Given the description of an element on the screen output the (x, y) to click on. 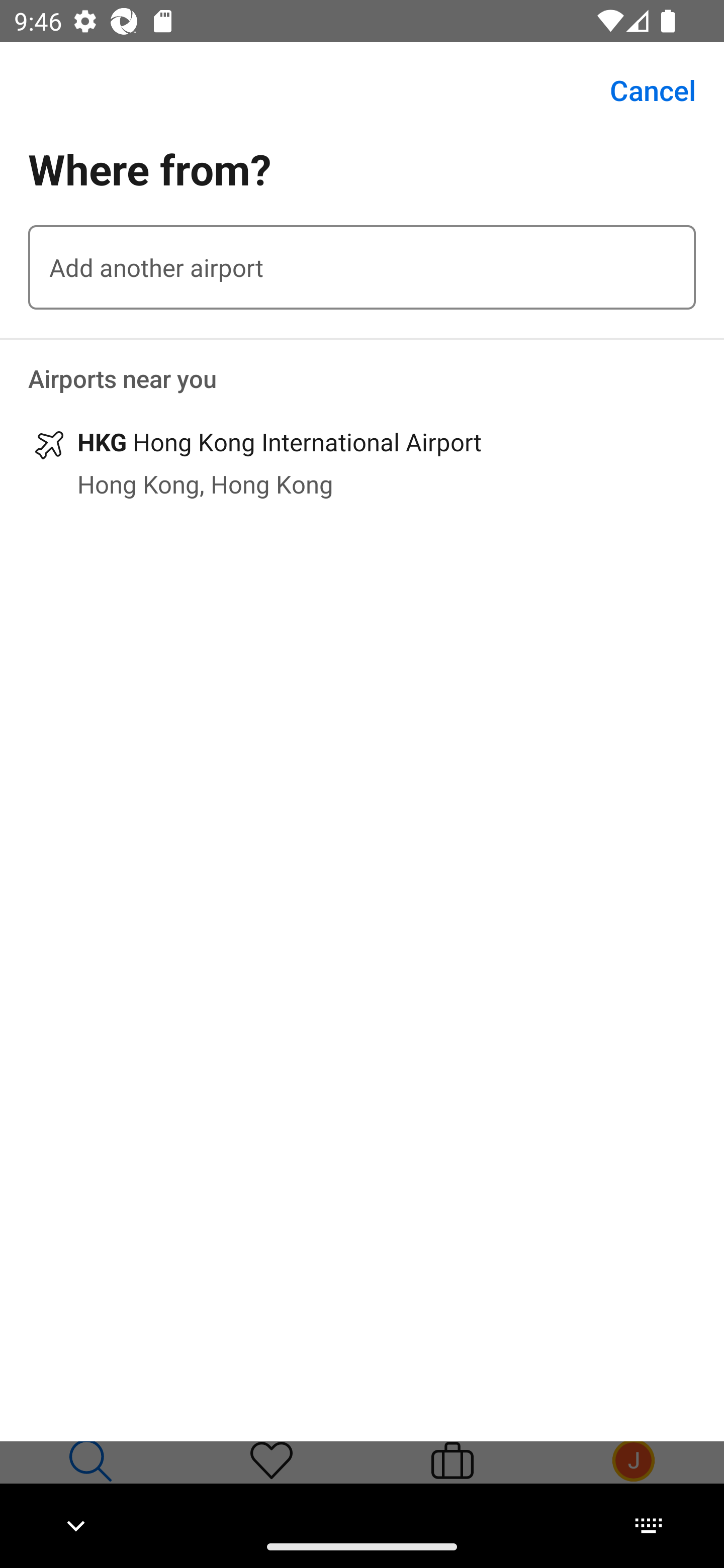
Cancel (641, 90)
Add another airport (361, 266)
